Given the description of an element on the screen output the (x, y) to click on. 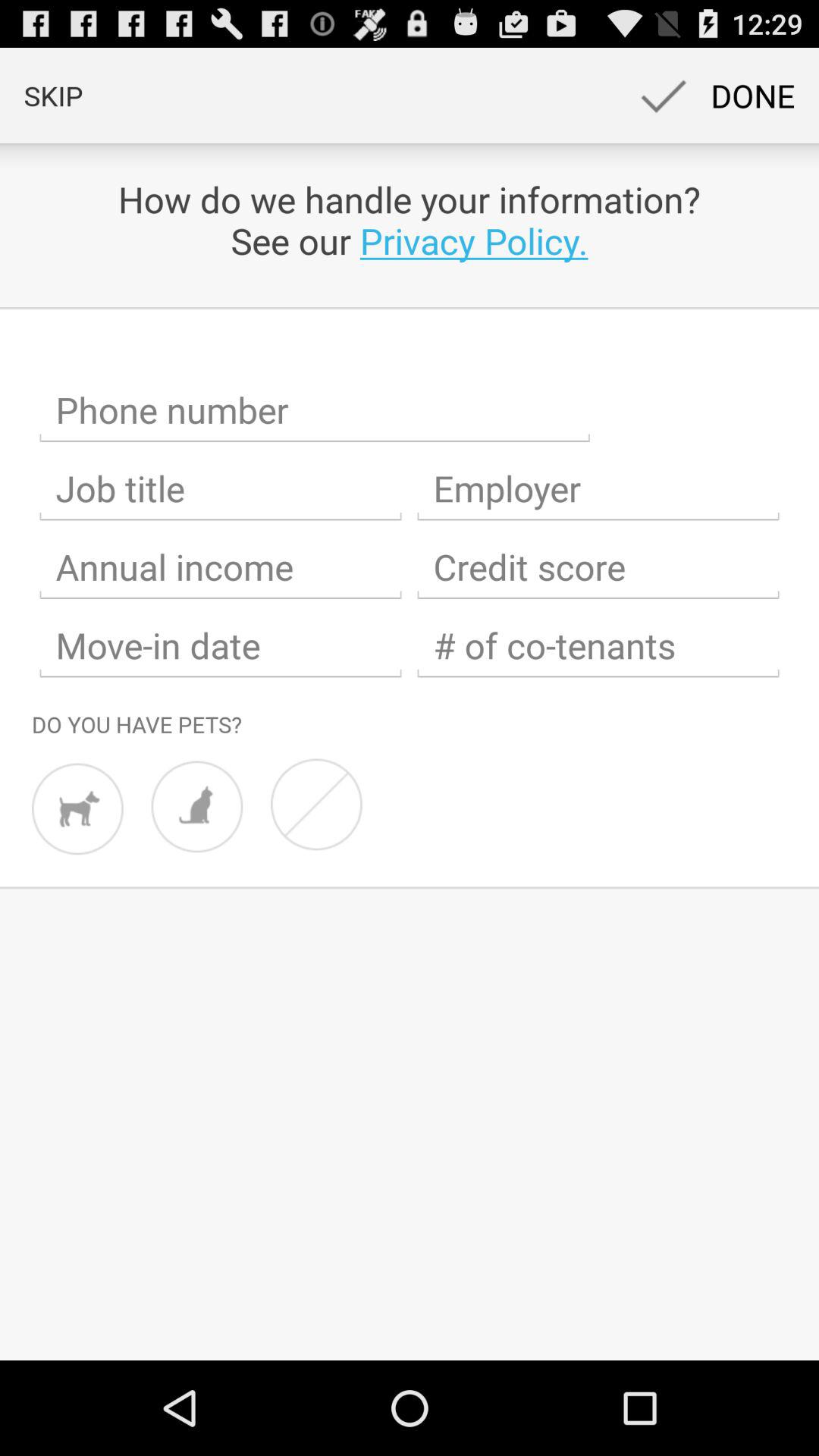
turn on how do we item (409, 220)
